Given the description of an element on the screen output the (x, y) to click on. 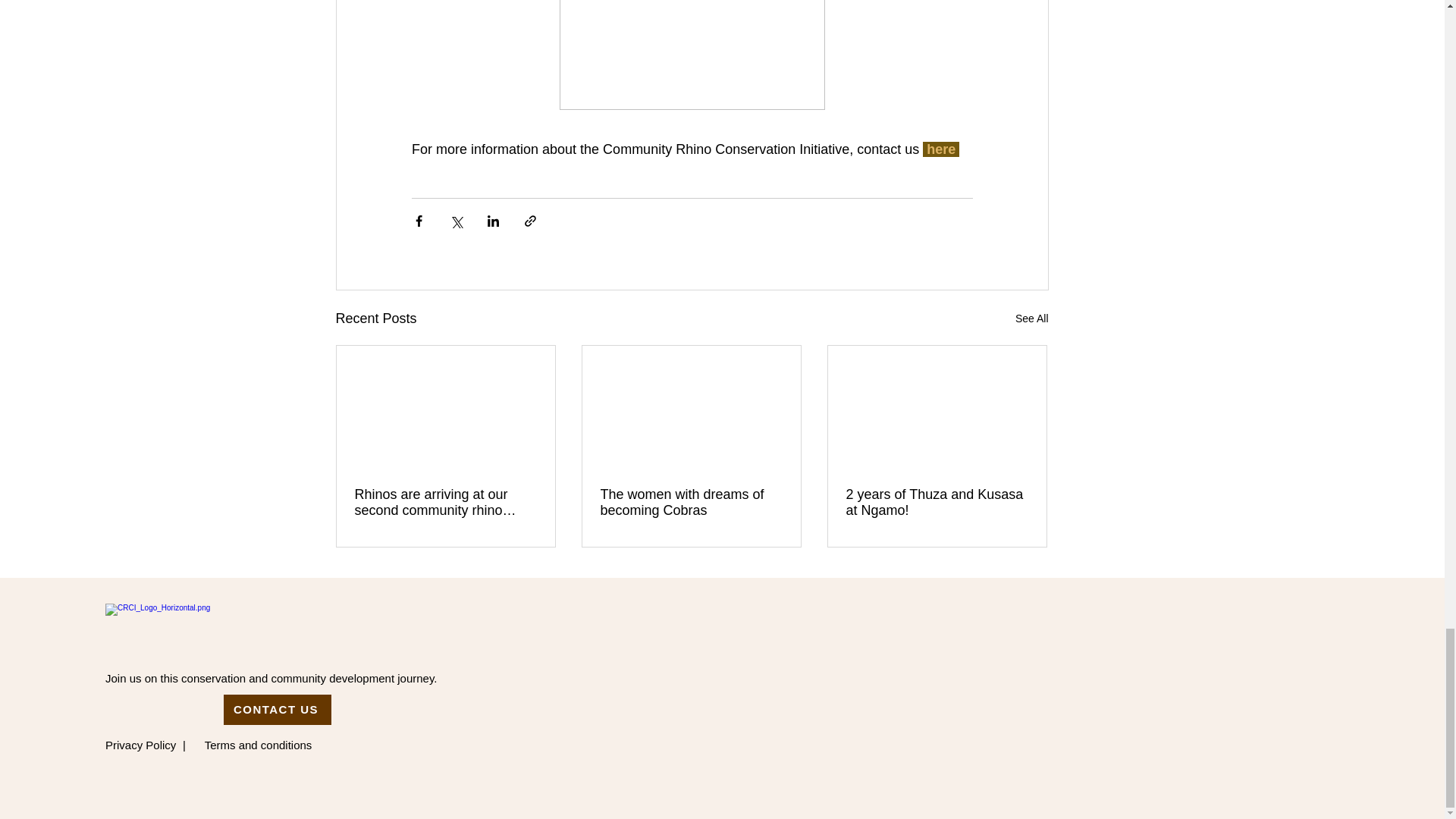
Rhinos are arriving at our second community rhino sanctuary! (446, 502)
here  (942, 149)
Privacy Policy (140, 744)
CONTACT US (277, 709)
See All (1031, 318)
The women with dreams of becoming Cobras (691, 502)
2 years of Thuza and Kusasa at Ngamo! (936, 502)
